Given the description of an element on the screen output the (x, y) to click on. 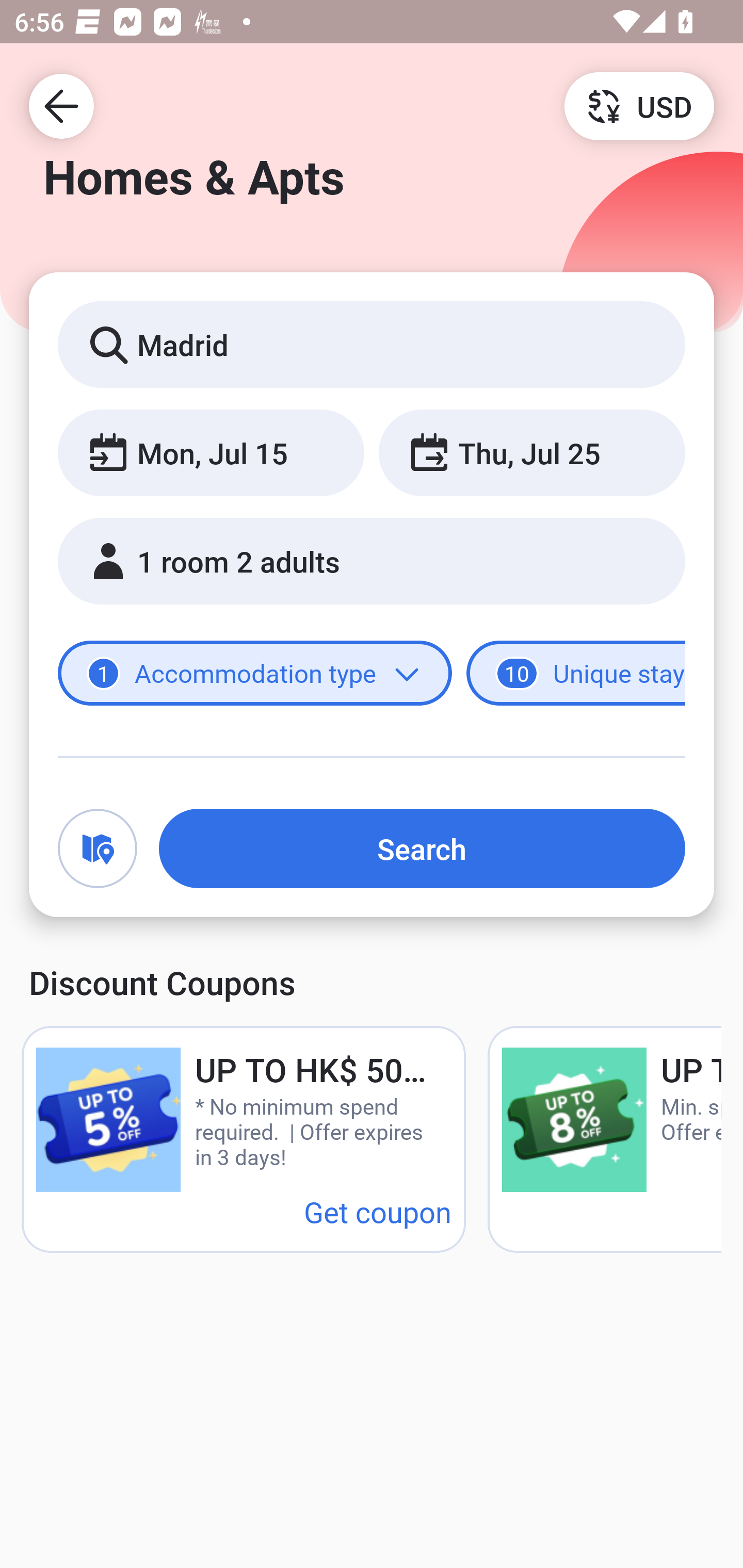
USD (639, 105)
Madrid (371, 344)
Mon, Jul 15 (210, 452)
Thu, Jul 25 (531, 452)
1 room 2 adults (371, 561)
1 Accommodation type (254, 673)
10 Unique stays (575, 673)
Search (422, 848)
Get coupon (377, 1211)
